Given the description of an element on the screen output the (x, y) to click on. 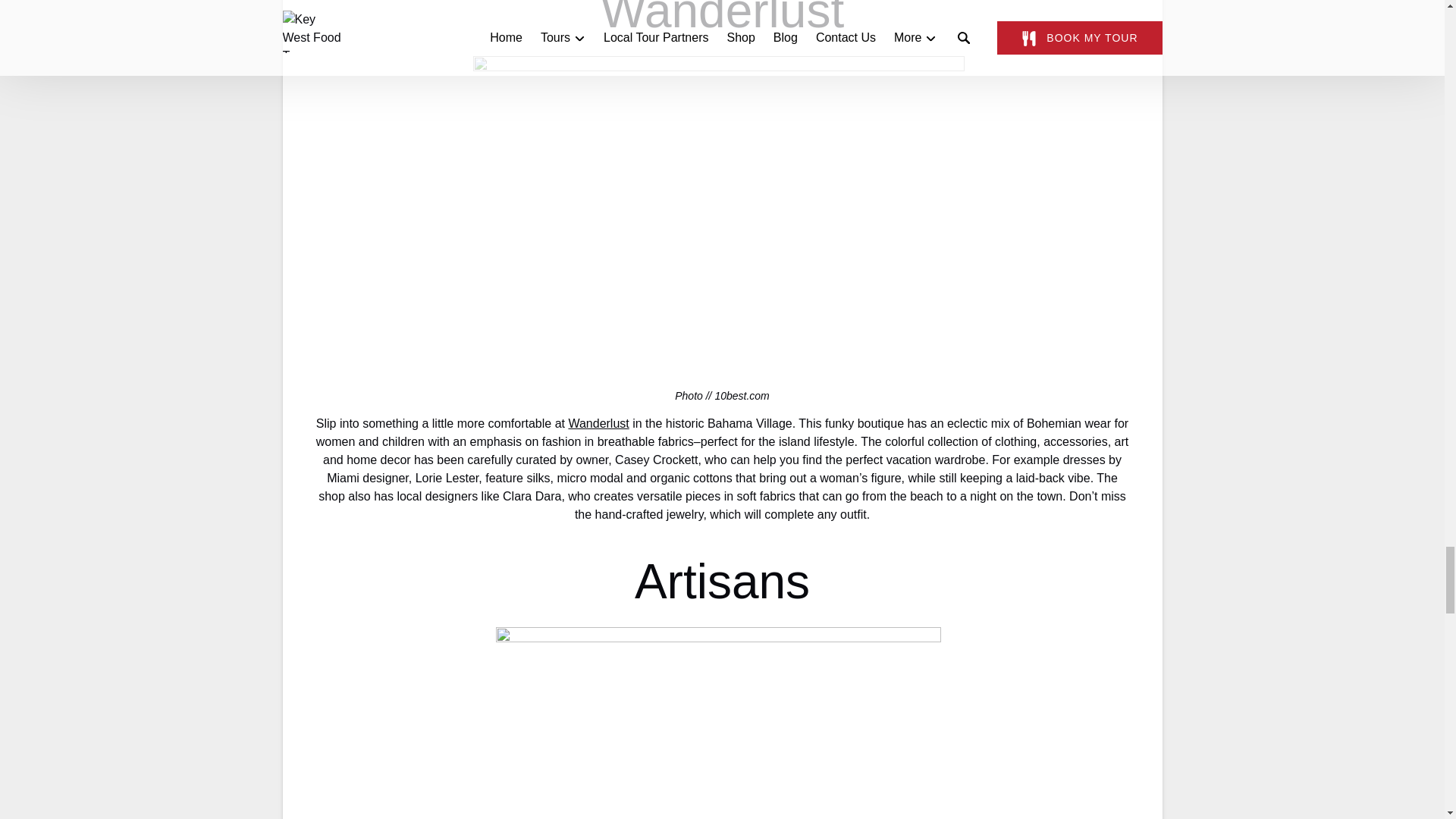
Wanderlust (597, 422)
